Given the description of an element on the screen output the (x, y) to click on. 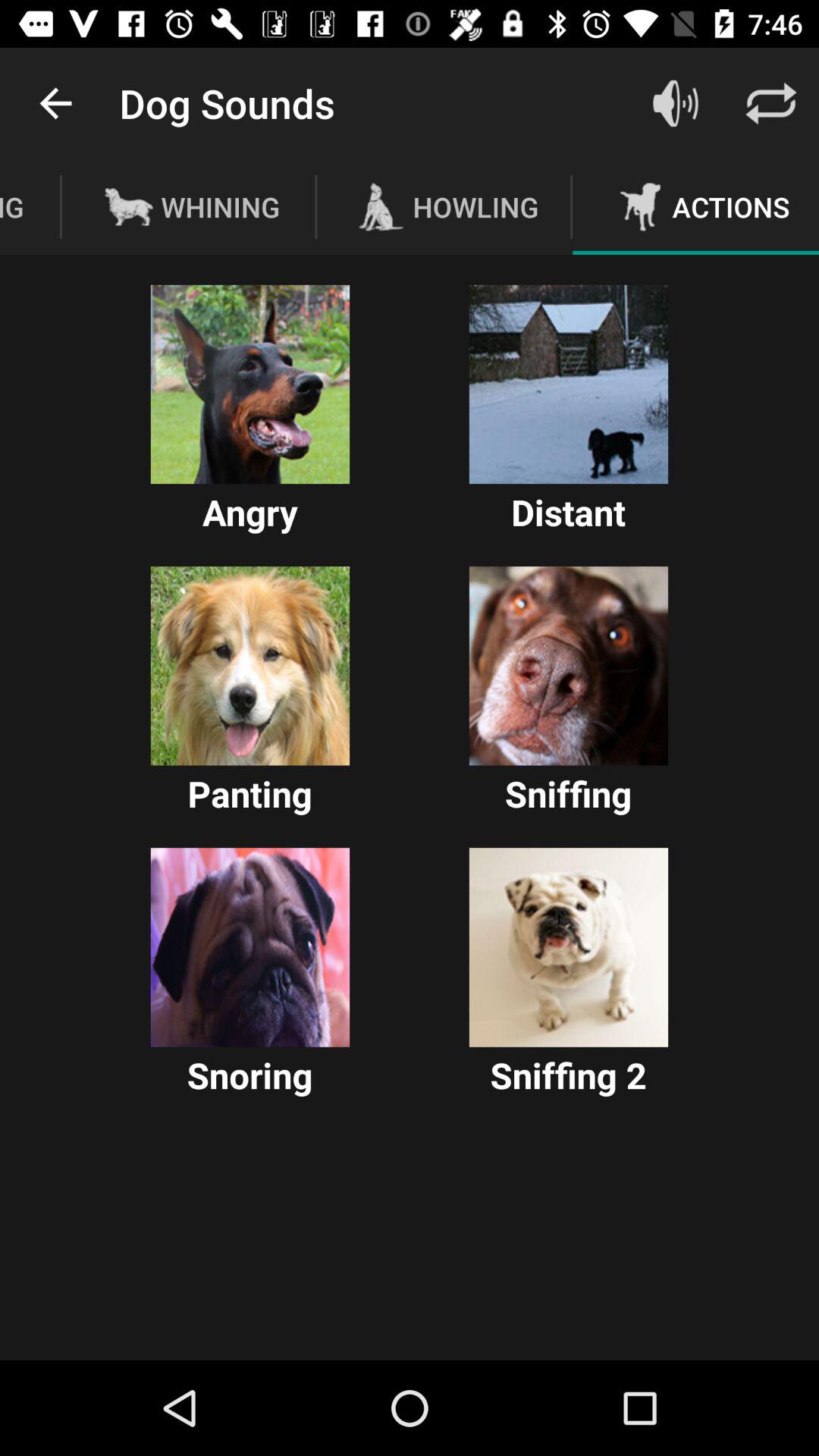
choose option (249, 384)
